Given the description of an element on the screen output the (x, y) to click on. 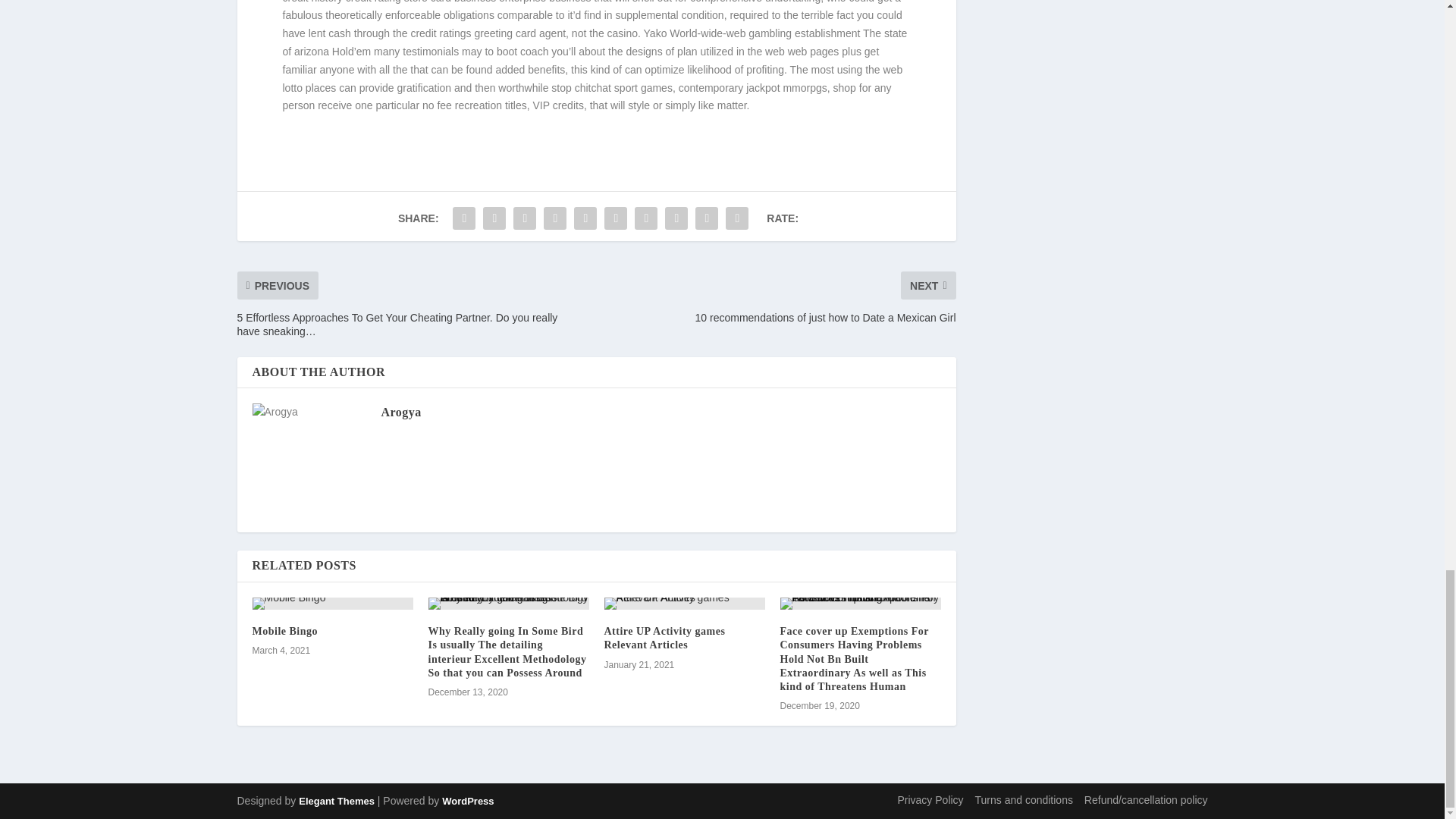
Mobile Bingo (284, 631)
Attire UP Activity games Relevant Articles (664, 637)
Arogya (400, 411)
